Given the description of an element on the screen output the (x, y) to click on. 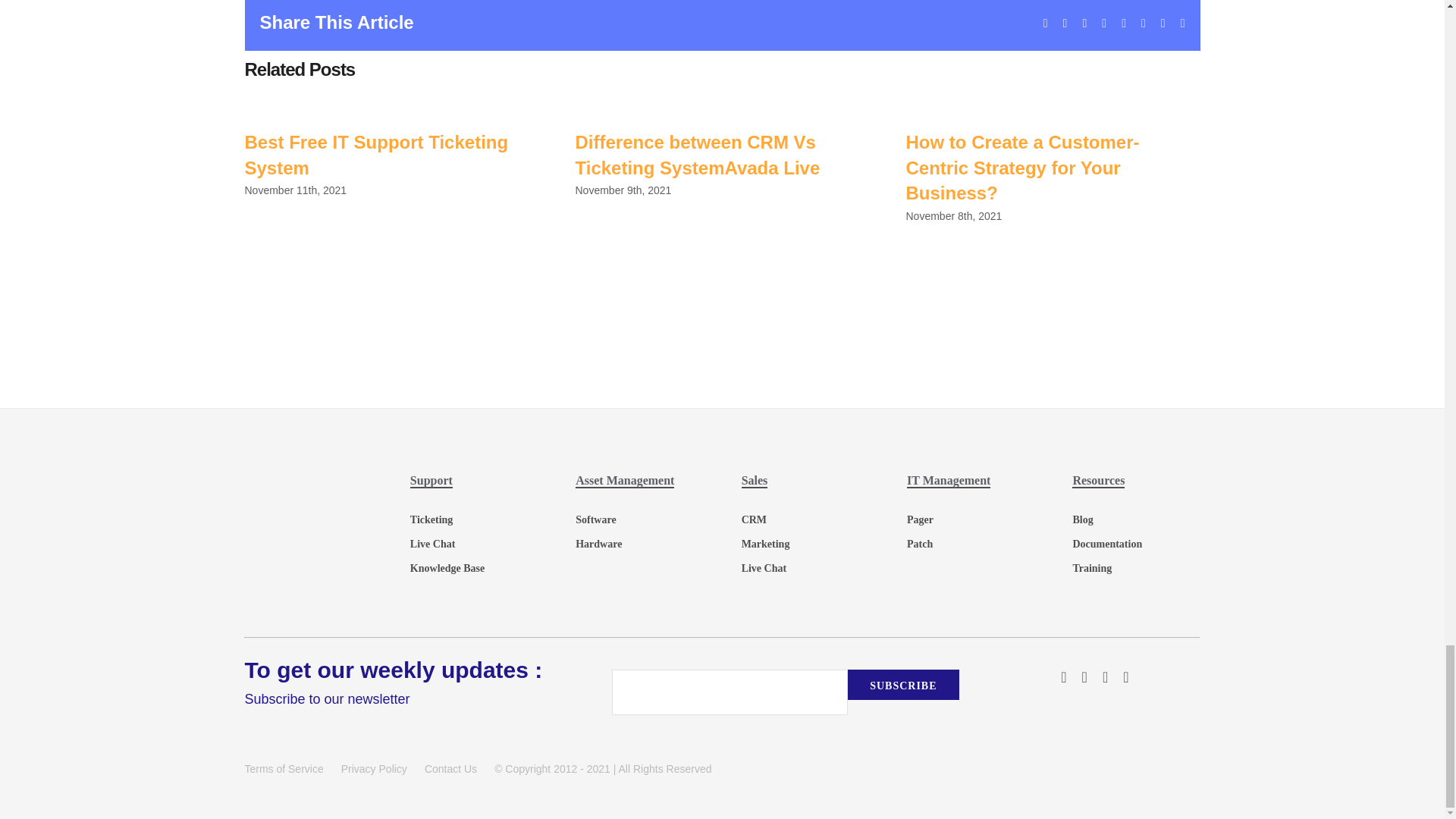
Best Free IT Support Ticketing System (376, 154)
Subscribe (902, 684)
How to Create a Customer-Centric Strategy for Your Business? (1021, 167)
Difference between CRM Vs Ticketing SystemAvada Live (697, 154)
